Given the description of an element on the screen output the (x, y) to click on. 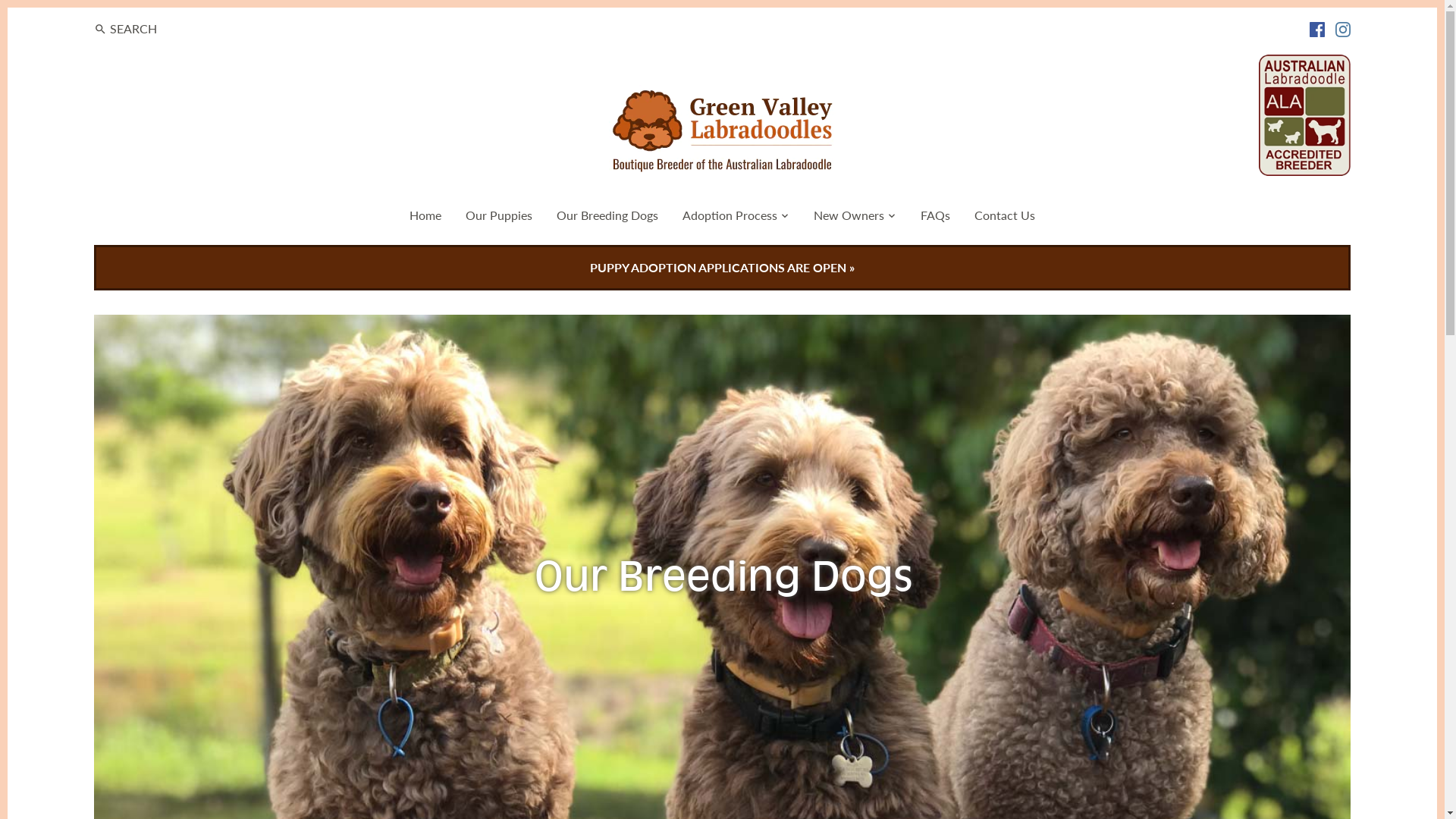
Contact Us Element type: text (1004, 217)
New Owners Element type: text (848, 217)
INSTAGRAM Element type: text (1342, 27)
FACEBOOK Element type: text (1316, 27)
Search Element type: text (100, 29)
Australian Labradoodle Association Element type: hover (1304, 62)
Adoption Process Element type: text (729, 217)
Home Element type: text (425, 217)
Our Breeding Dogs Element type: text (607, 217)
Our Puppies Element type: text (498, 217)
FAQs Element type: text (935, 217)
